Given the description of an element on the screen output the (x, y) to click on. 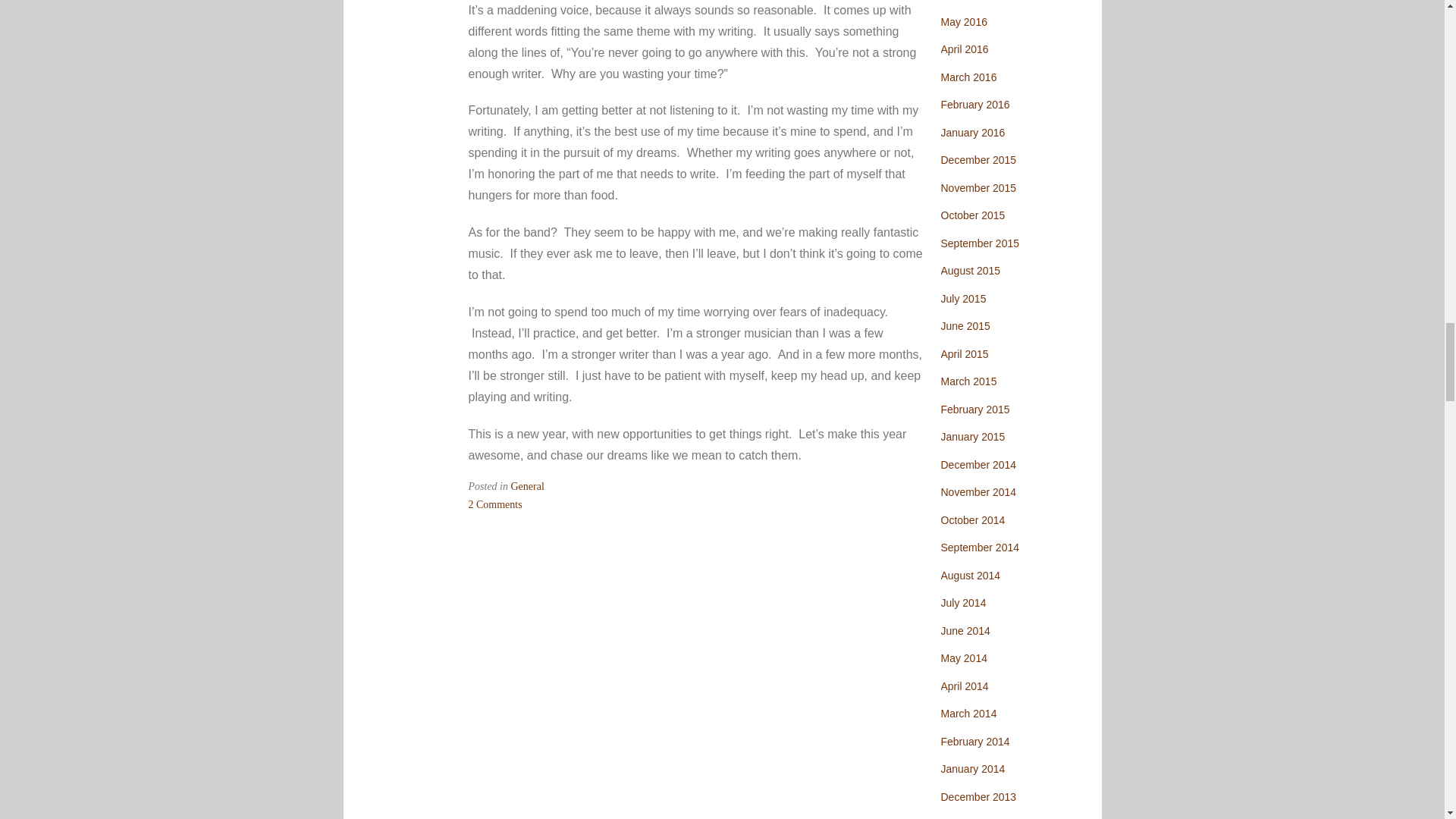
General (495, 504)
